Given the description of an element on the screen output the (x, y) to click on. 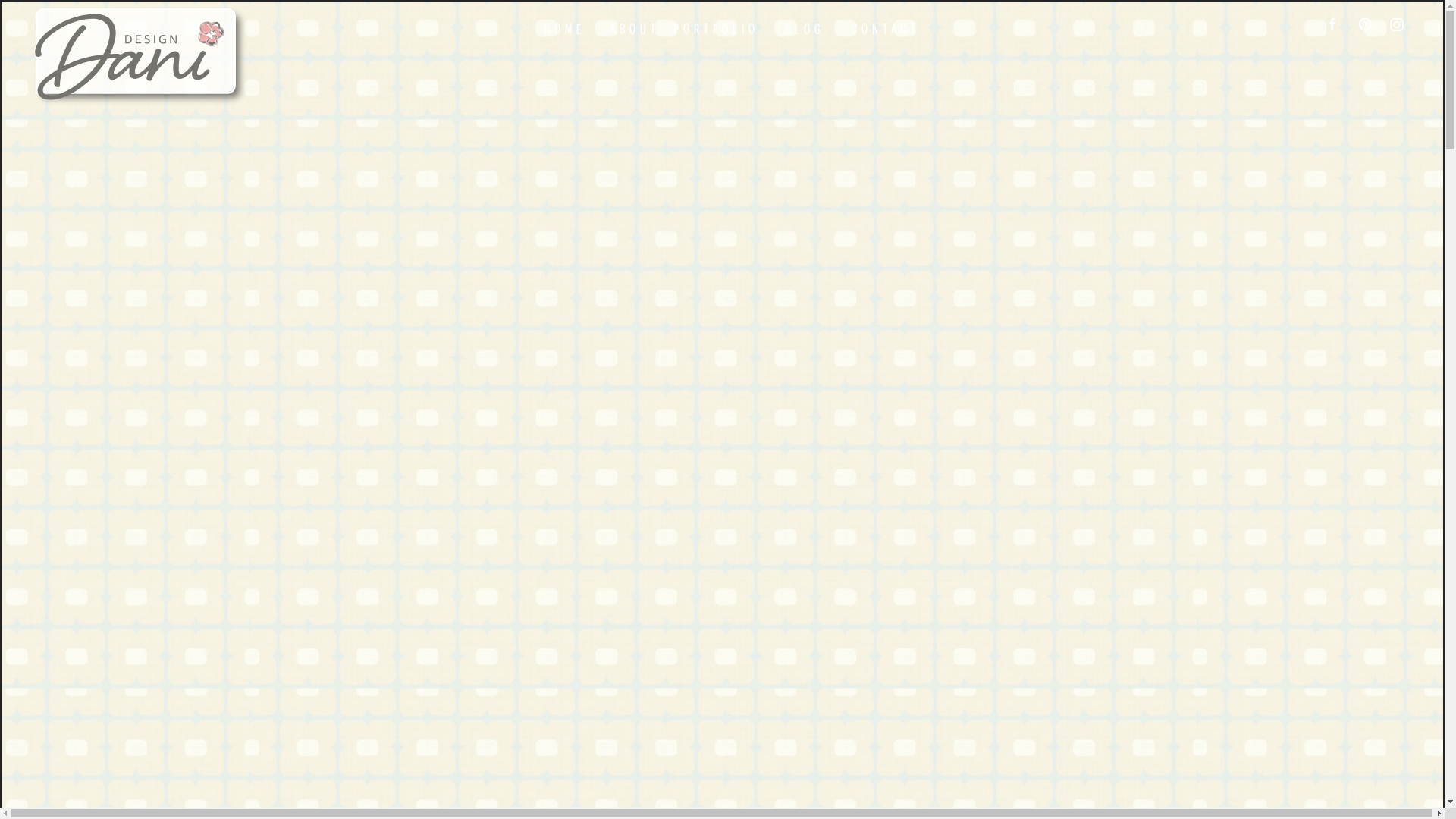
ABOUT Element type: text (634, 28)
BLOG Element type: text (805, 28)
CONTACT Element type: text (885, 28)
HOME Element type: text (564, 28)
PORTFOLIO Element type: text (716, 28)
